Given the description of an element on the screen output the (x, y) to click on. 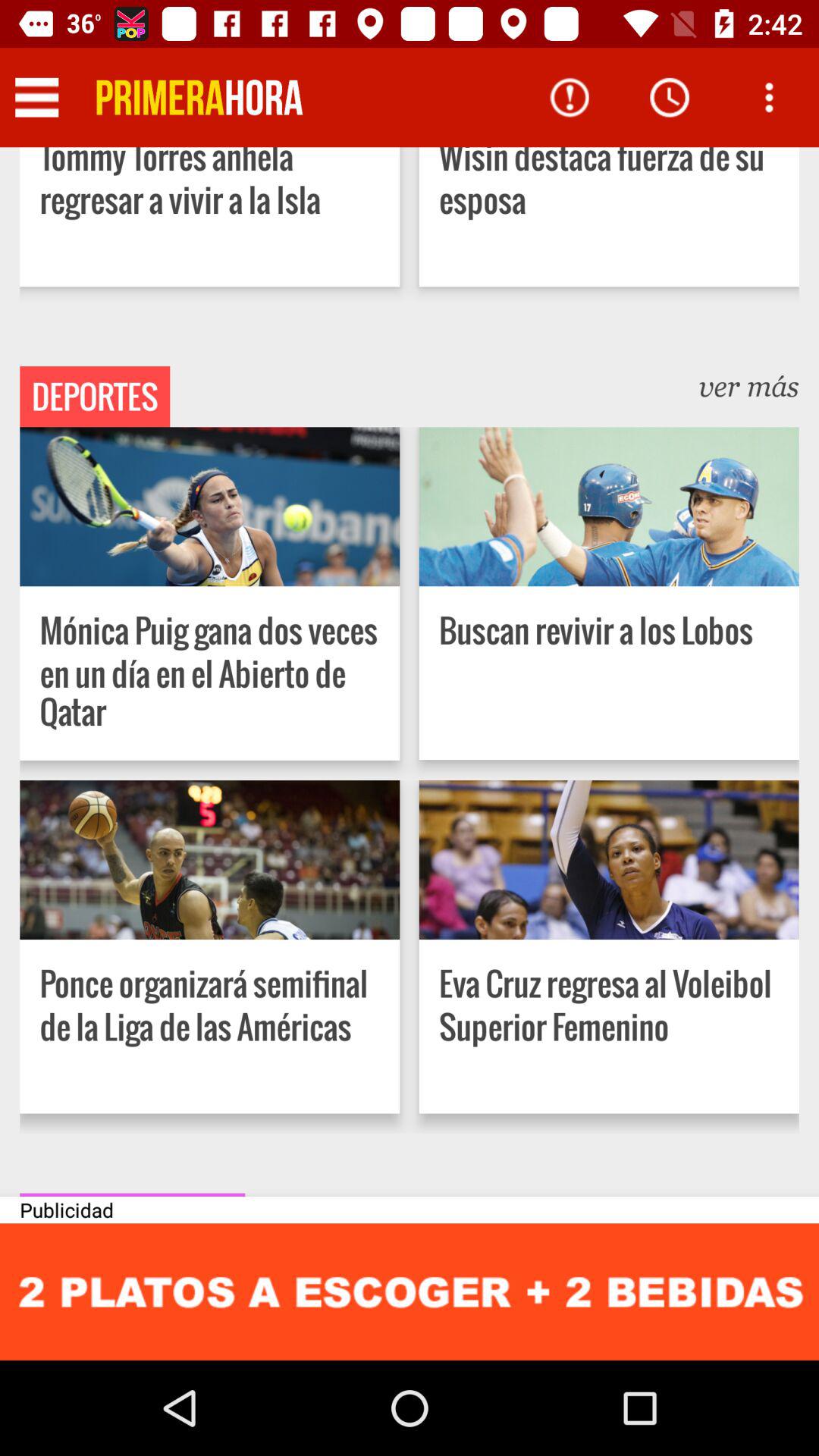
asking to see options (769, 97)
